Given the description of an element on the screen output the (x, y) to click on. 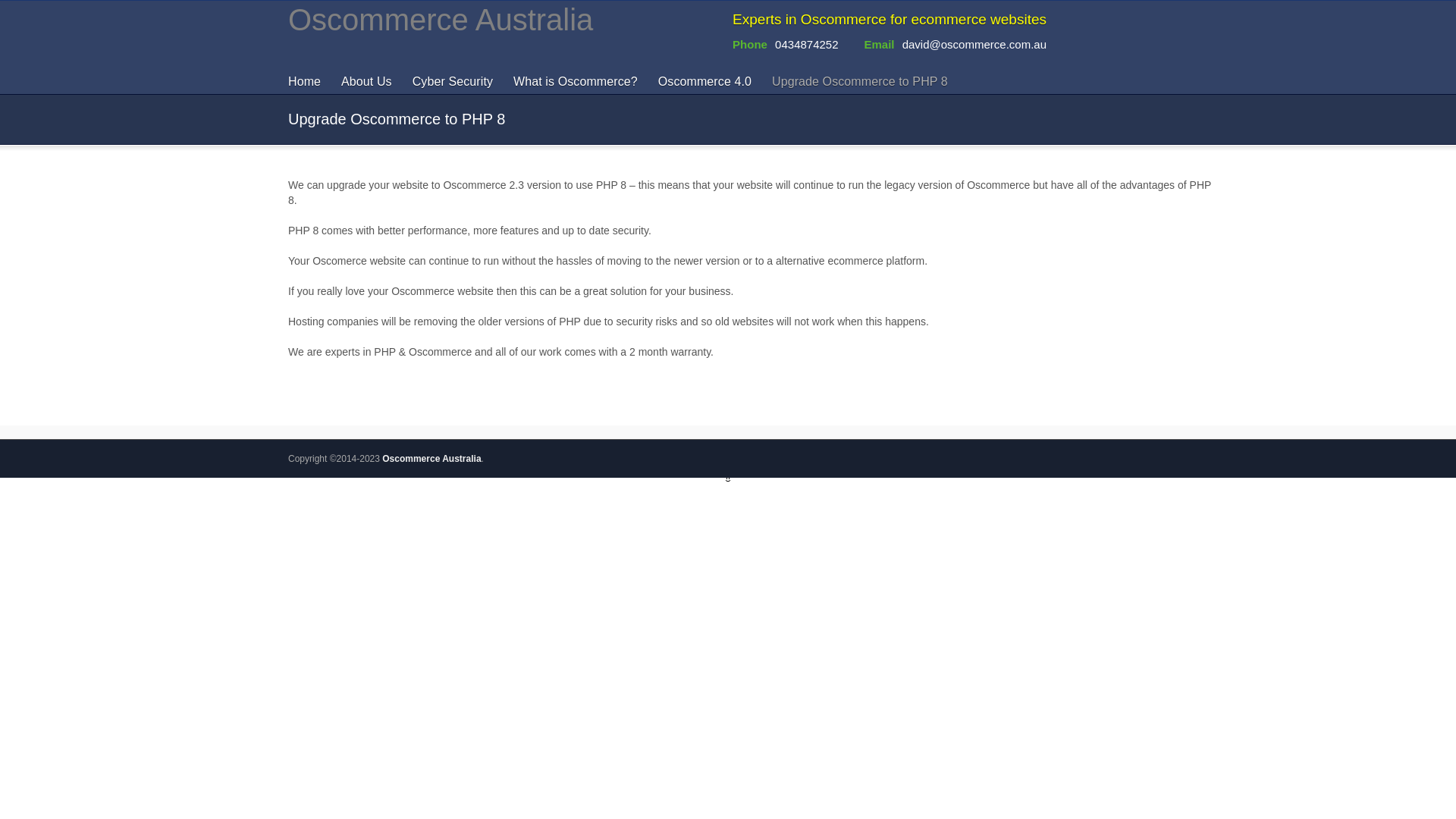
Oscommerce 4.0 (708, 81)
About Us (370, 81)
0434874252 (806, 43)
Upgrade Oscommerce to PHP 8 (863, 81)
Home (311, 81)
Cyber Security (456, 81)
What is Oscommerce? (579, 81)
Oscommerce Australia (430, 458)
